Given the description of an element on the screen output the (x, y) to click on. 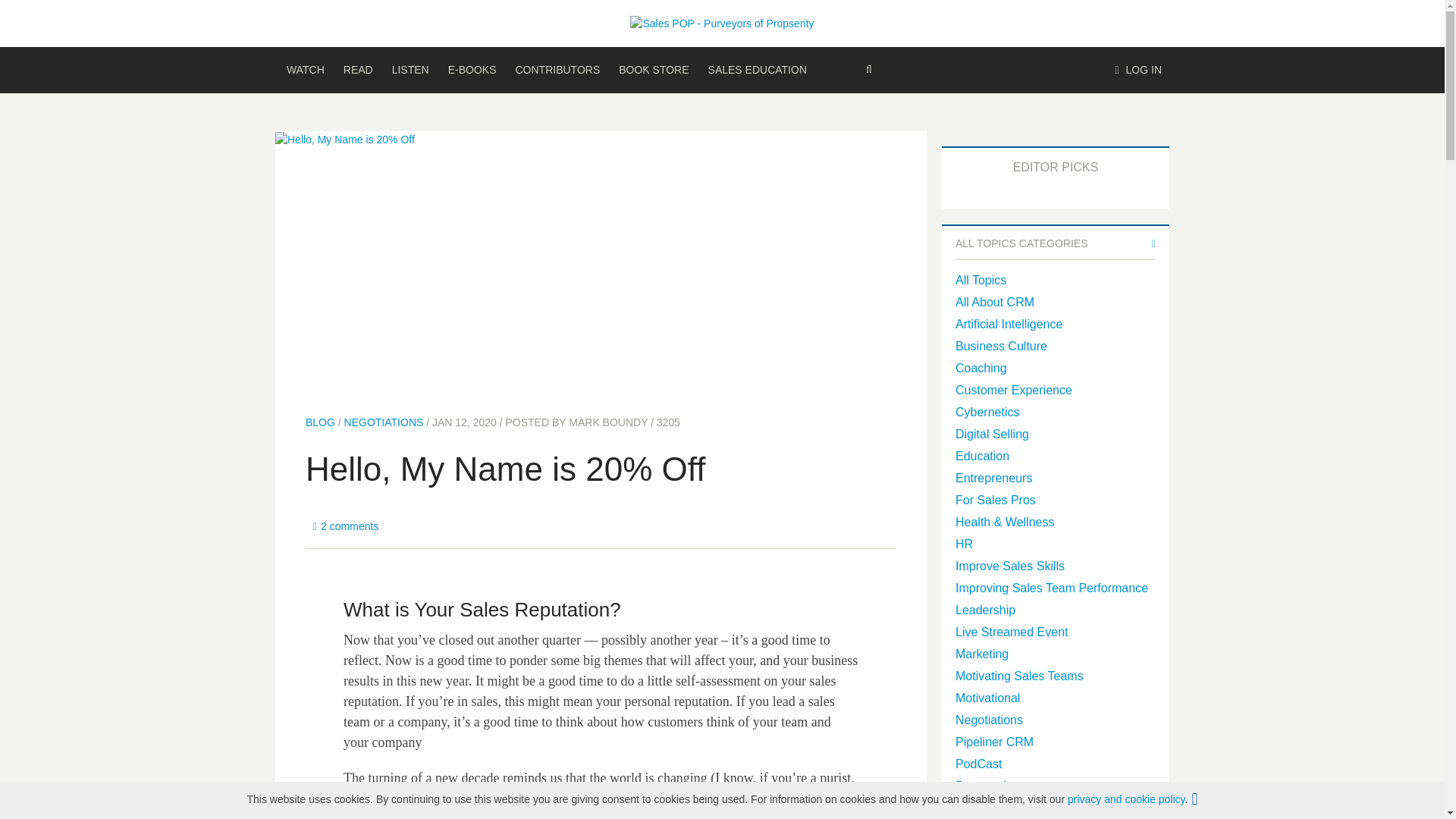
WATCH (305, 69)
MARK BOUNDY (608, 422)
READ (358, 69)
E-BOOKS (472, 69)
BOOK STORE (653, 69)
2 comments (345, 526)
CONTRIBUTORS (556, 69)
SALES EDUCATION (756, 69)
BLOG (319, 422)
LISTEN (410, 69)
